Given the description of an element on the screen output the (x, y) to click on. 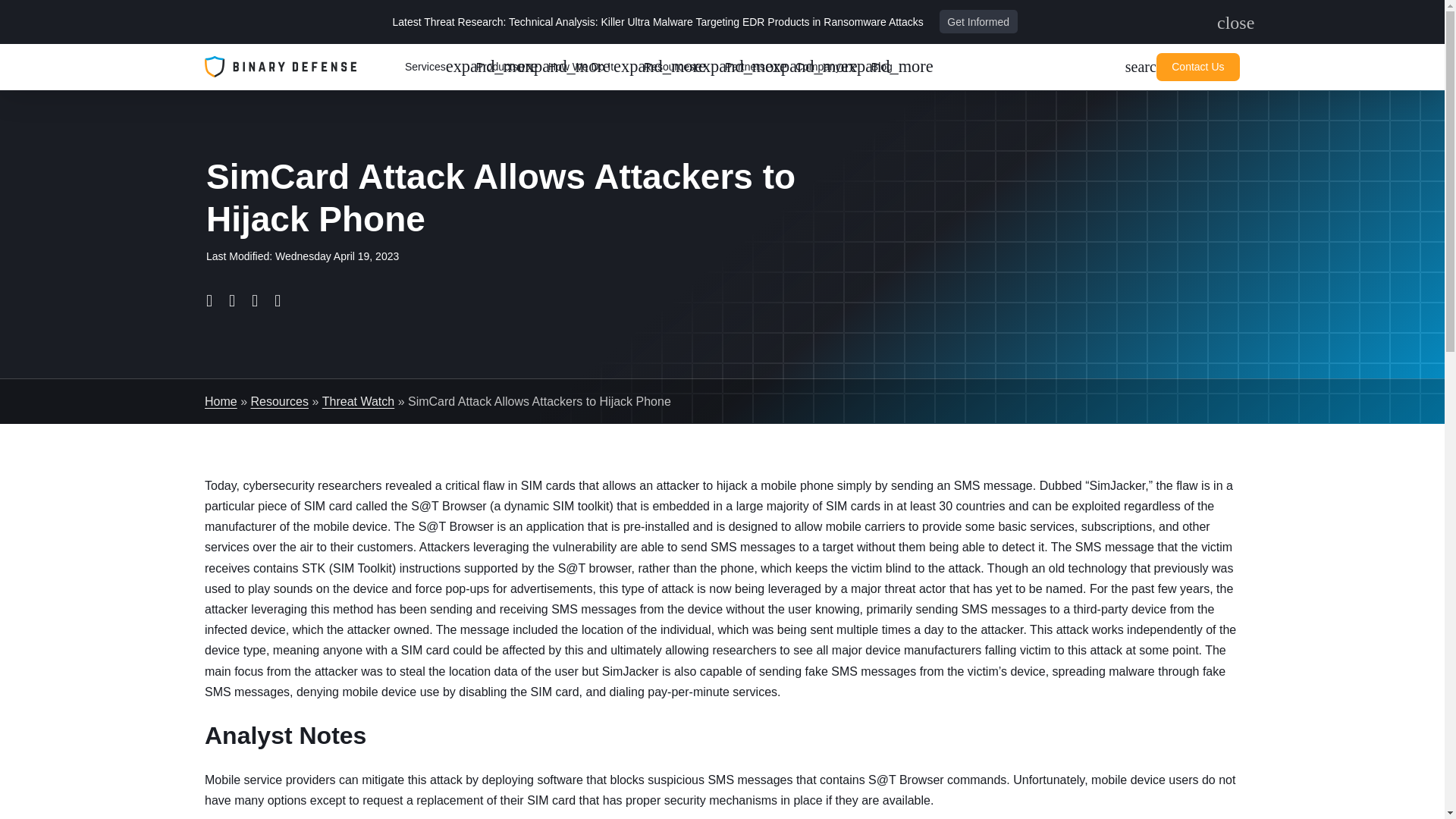
How We Do It (589, 66)
Get Informed (1225, 22)
Services (978, 21)
Resources (434, 66)
Company (678, 66)
Partners (826, 66)
Products (754, 66)
